Given the description of an element on the screen output the (x, y) to click on. 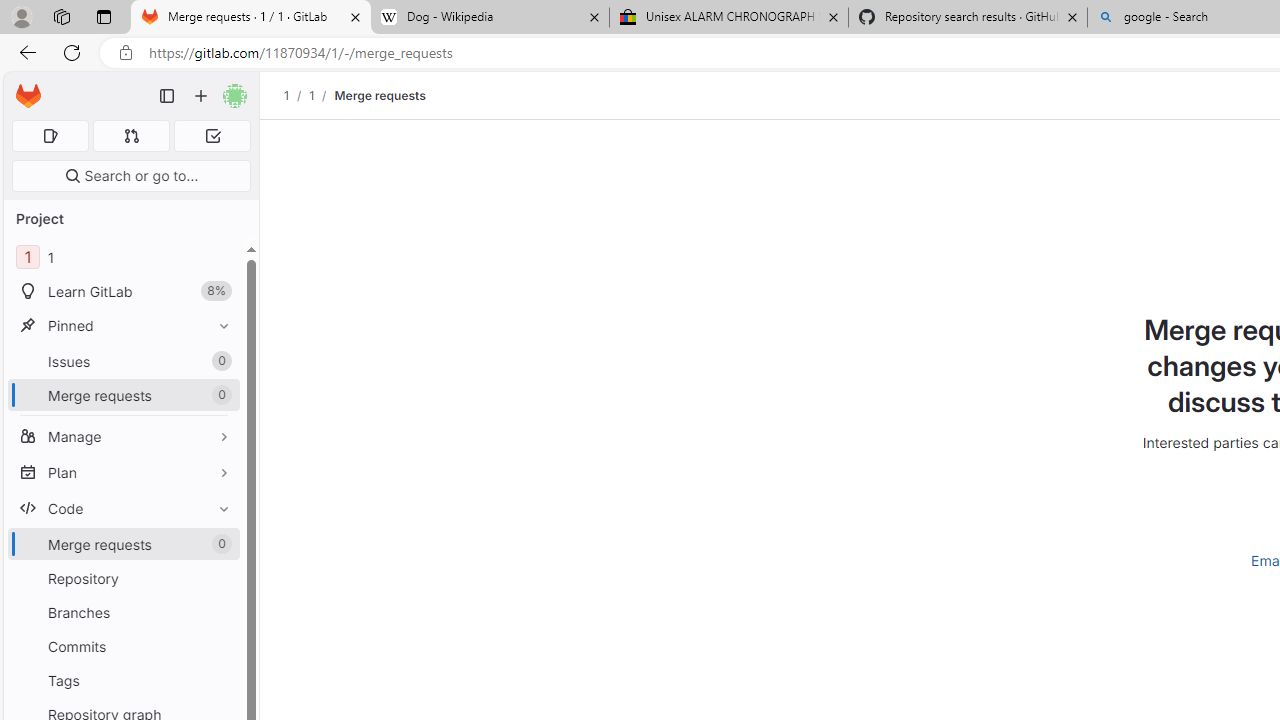
Learn GitLab 8% (123, 291)
Commits (123, 646)
Repository (123, 578)
Branches (123, 612)
Unpin Issues (219, 361)
11 (123, 257)
Commits (123, 646)
1 (311, 95)
Tags (123, 679)
